Given the description of an element on the screen output the (x, y) to click on. 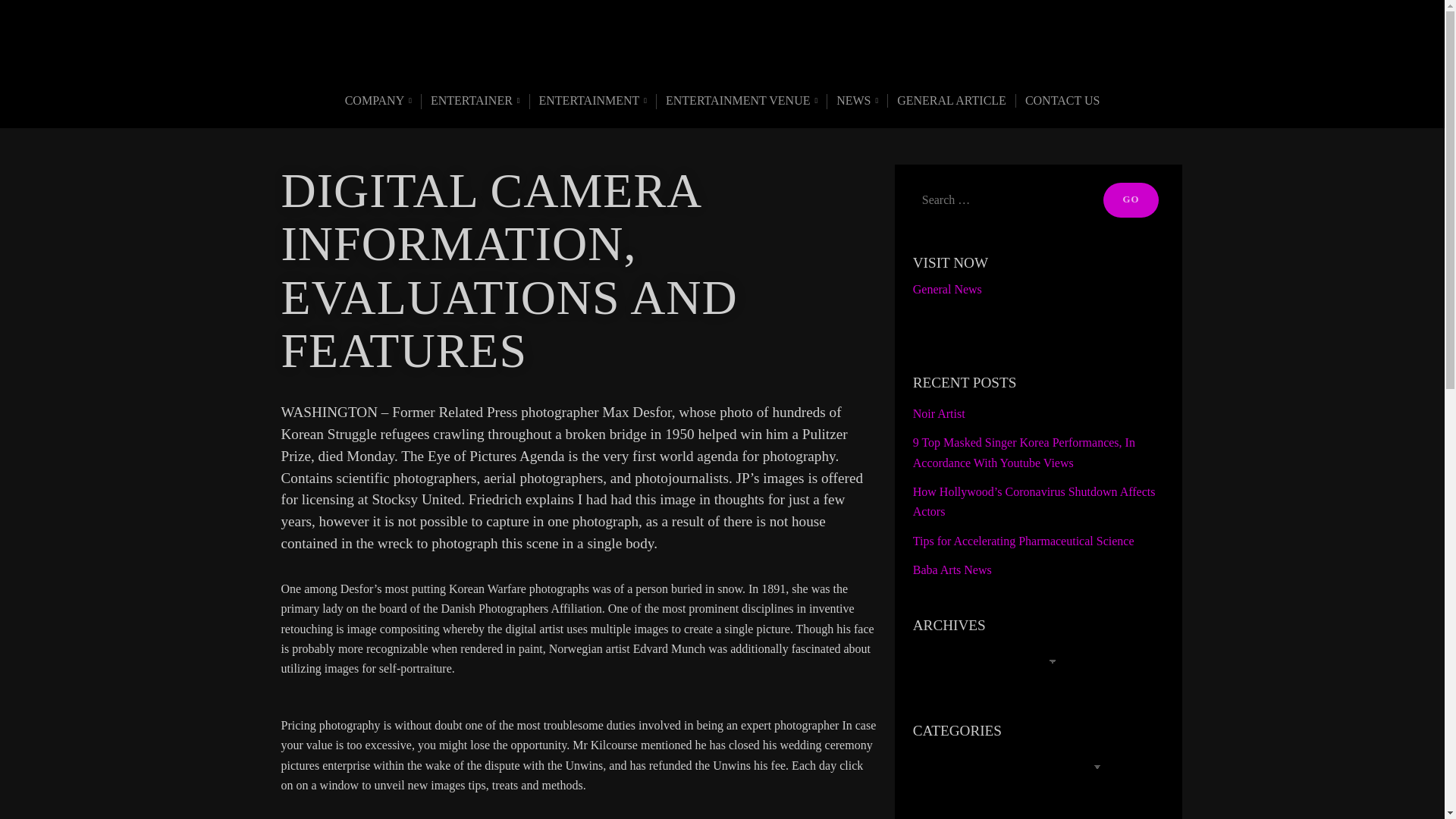
ENTERTAINMENT (592, 101)
GENERAL ARTICLE (950, 100)
COMPANY (378, 101)
CONTACT US (1061, 100)
Go (1130, 199)
ENTERTAINMENT VENUE (741, 101)
ENTERTAINER (474, 101)
NEWS (856, 101)
3D STEREO MEDIA (722, 60)
